Given the description of an element on the screen output the (x, y) to click on. 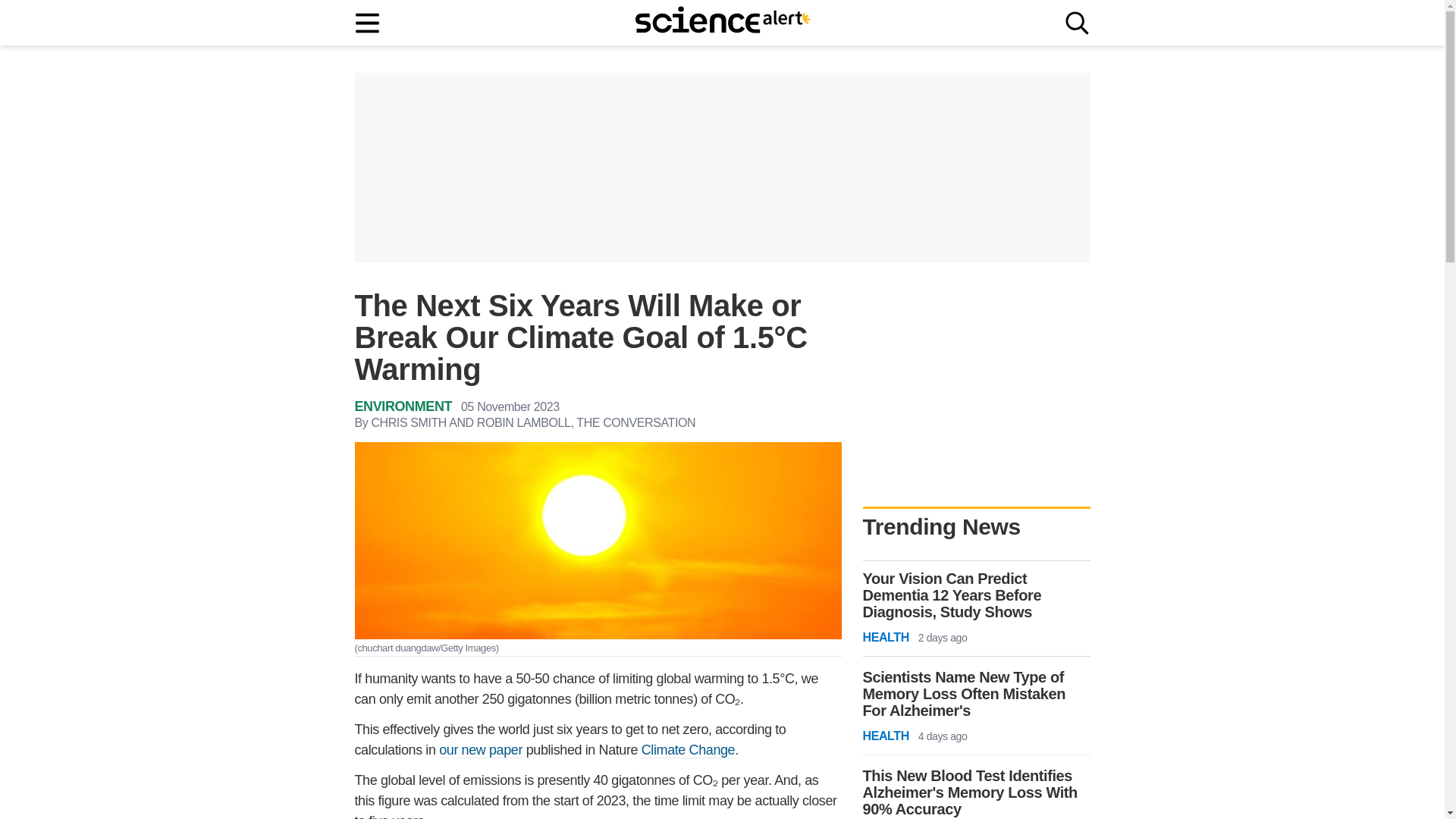
ENVIRONMENT (403, 406)
our new paper (480, 750)
Climate Change (688, 750)
